Given the description of an element on the screen output the (x, y) to click on. 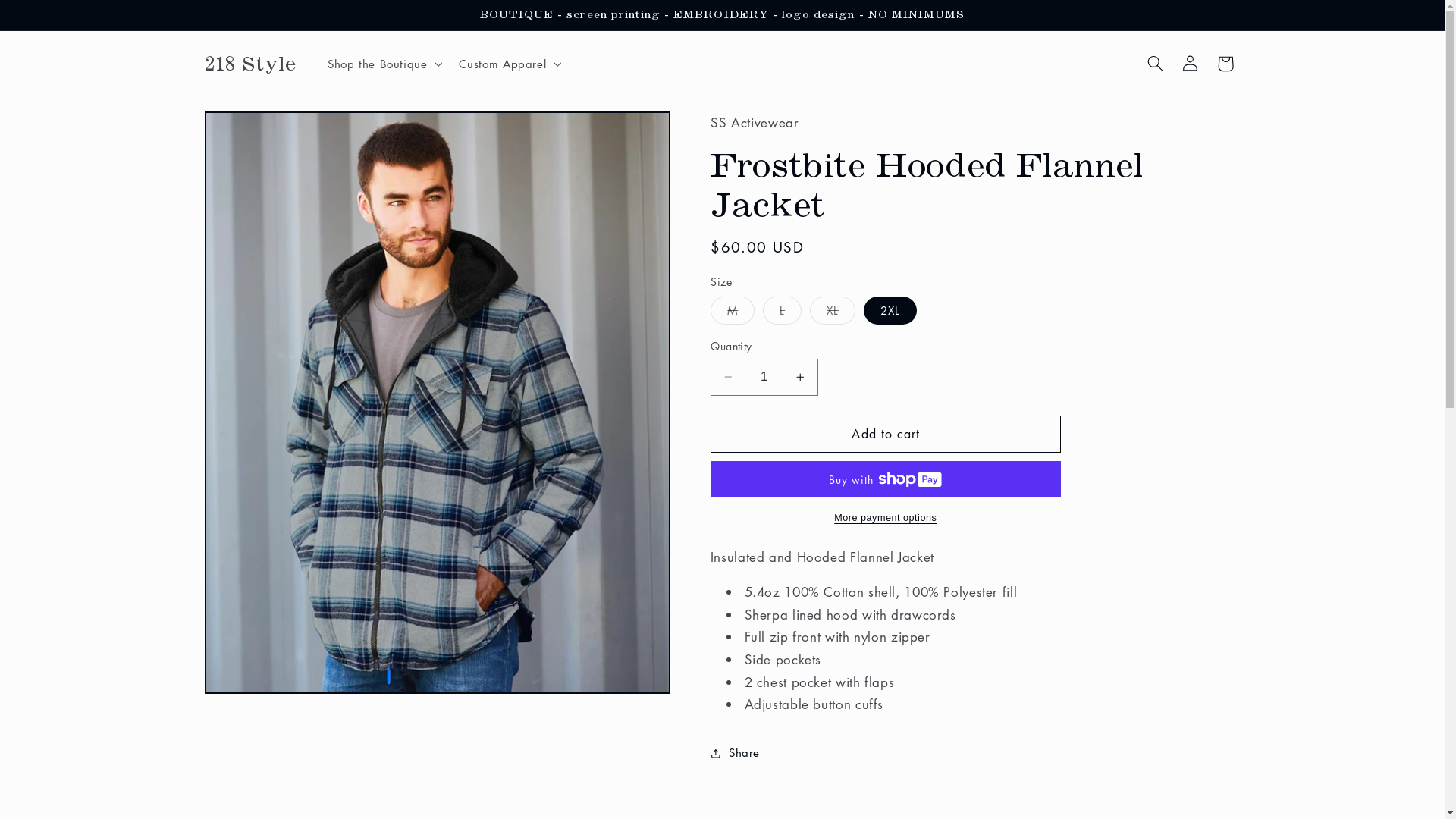
Increase quantity for Frostbite Hooded Flannel Jacket Element type: text (800, 376)
Cart Element type: text (1225, 63)
Skip to product information Element type: text (252, 128)
218 Style Element type: text (249, 63)
More payment options Element type: text (885, 518)
Decrease quantity for Frostbite Hooded Flannel Jacket Element type: text (728, 376)
Add to cart Element type: text (885, 433)
Log in Element type: text (1190, 63)
